Given the description of an element on the screen output the (x, y) to click on. 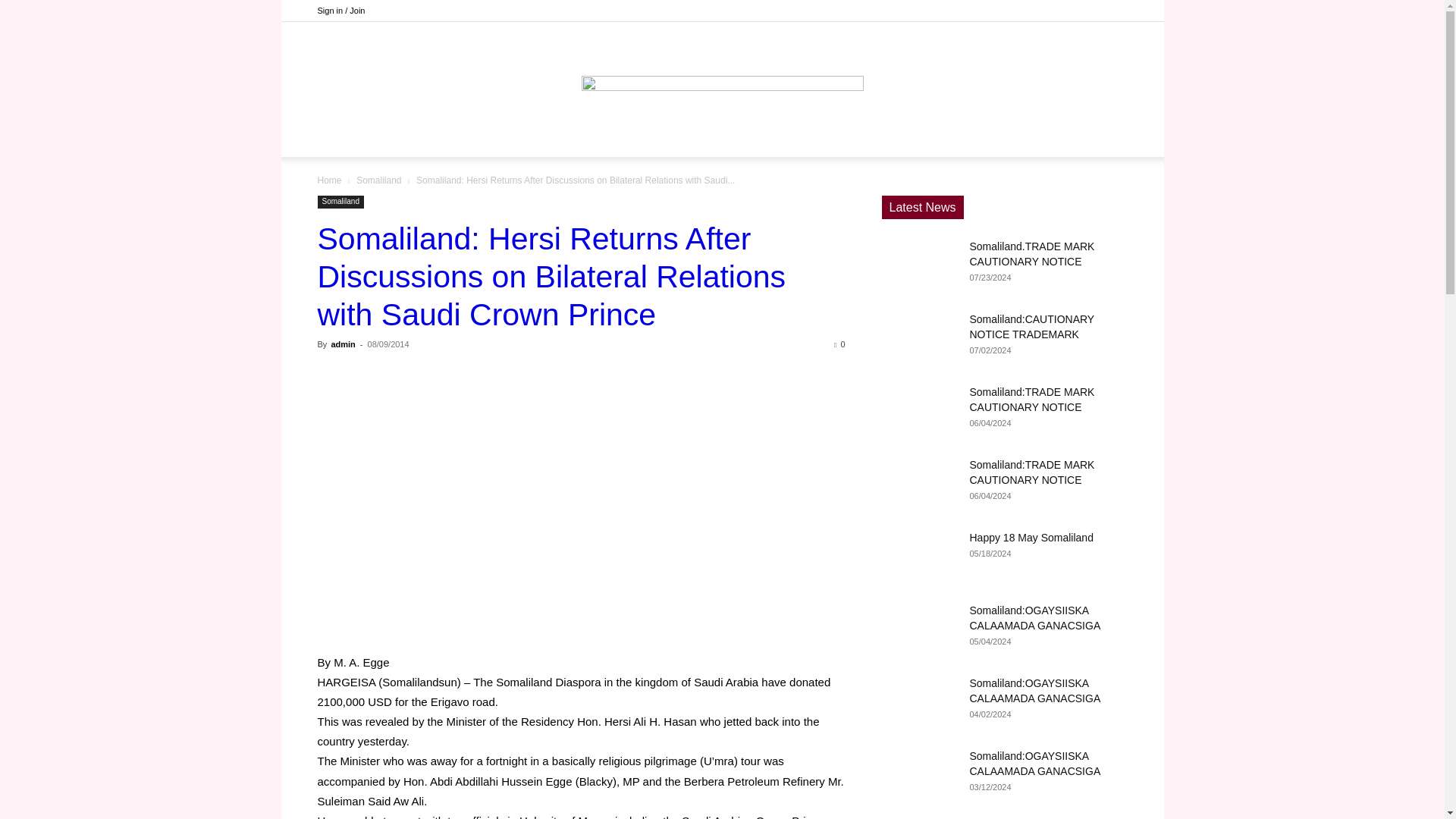
NEWS (631, 138)
Somaliland Sun (722, 71)
DONOR NEWS (556, 138)
HOME (481, 138)
